Given the description of an element on the screen output the (x, y) to click on. 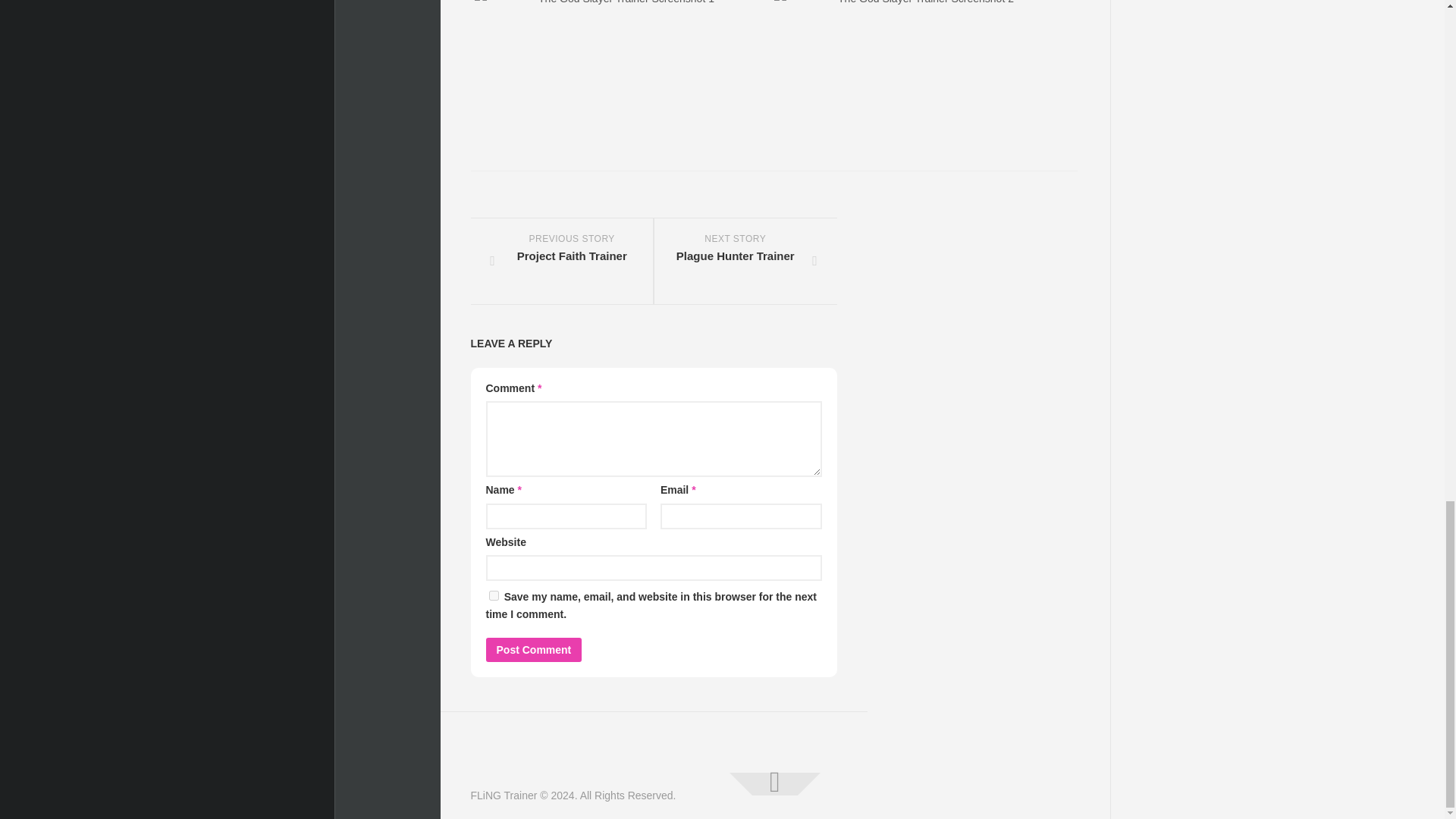
Post Comment (532, 649)
yes (492, 595)
Post Comment (532, 649)
